Given the description of an element on the screen output the (x, y) to click on. 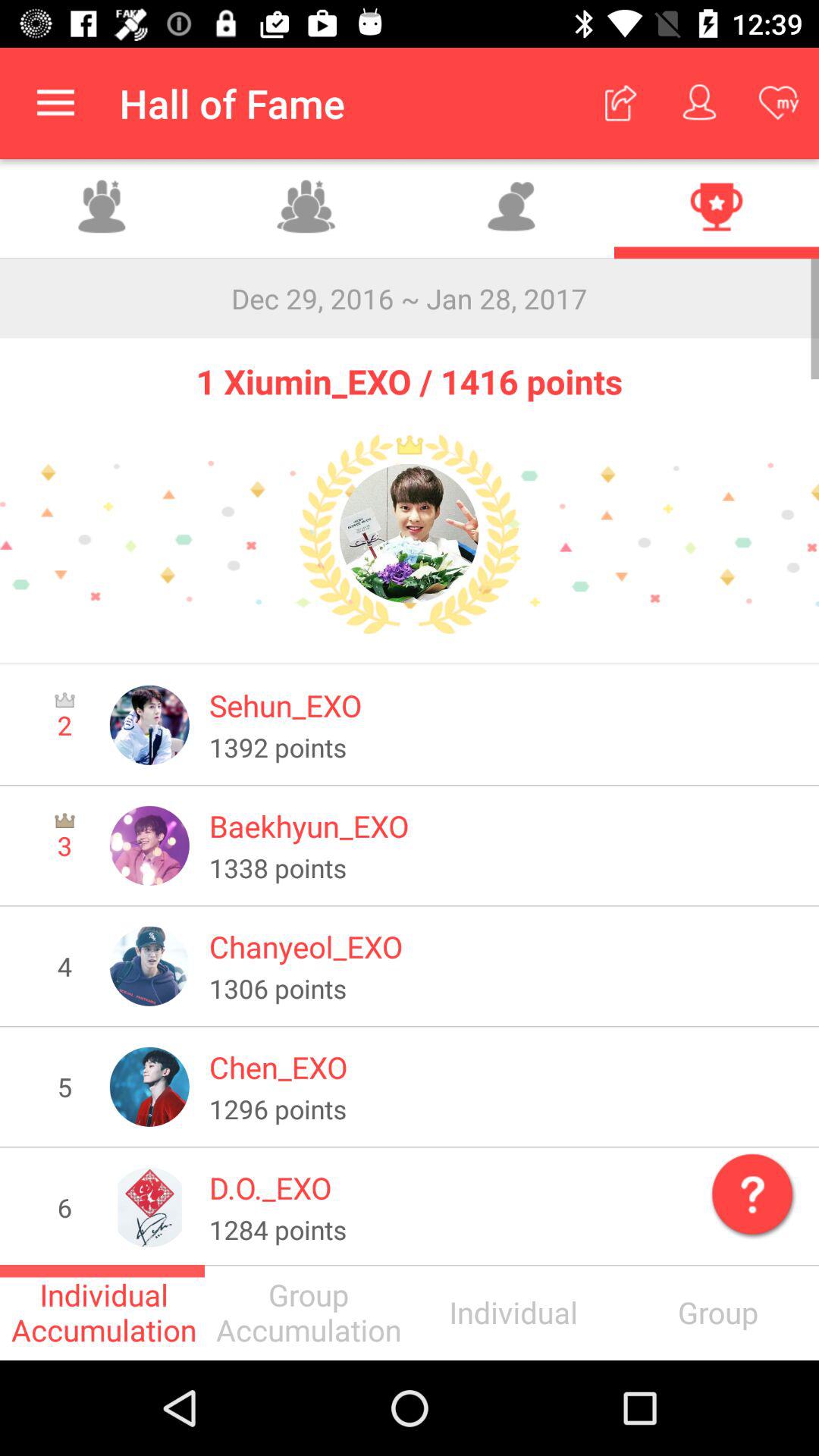
group accumulation (102, 208)
